Given the description of an element on the screen output the (x, y) to click on. 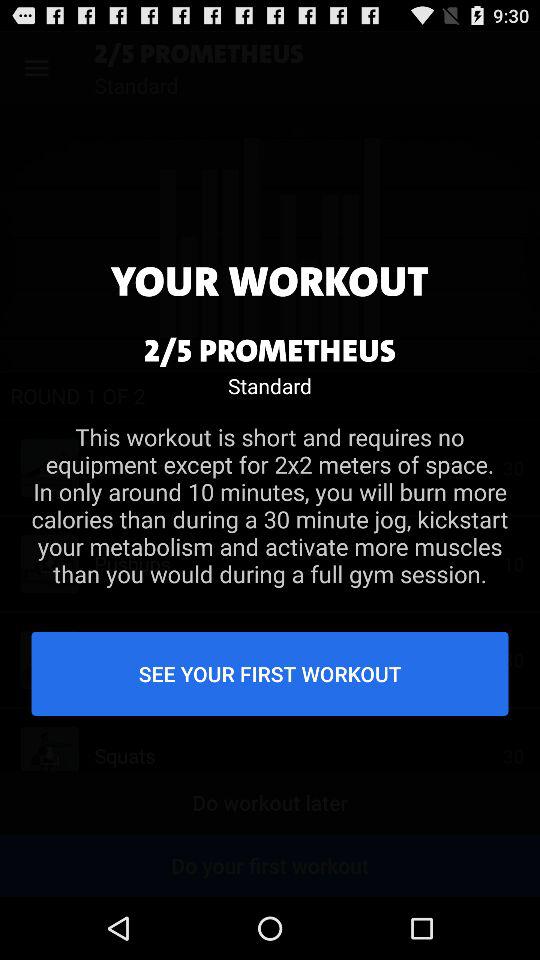
press the see your first item (269, 673)
